Given the description of an element on the screen output the (x, y) to click on. 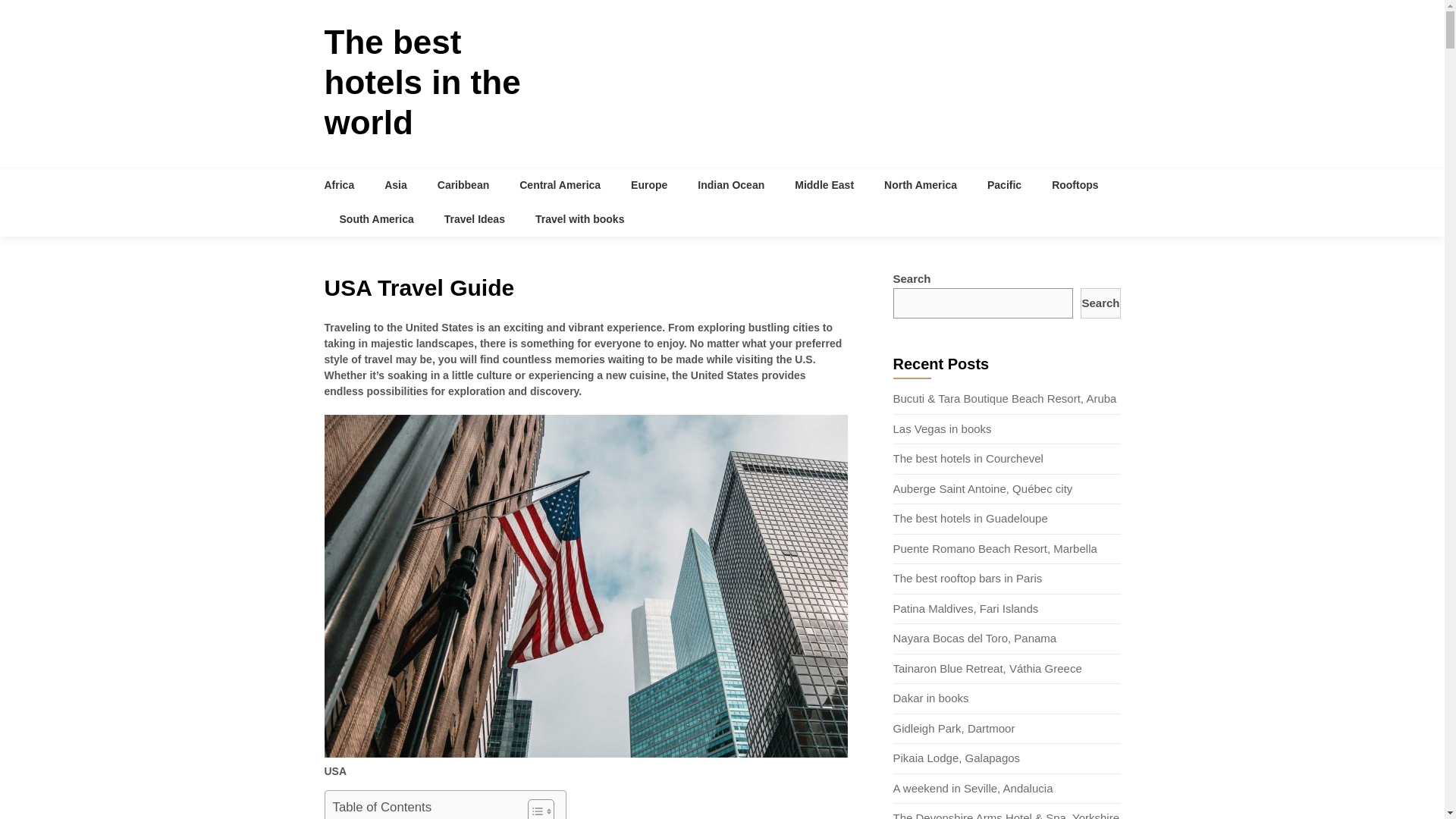
Pacific (1004, 185)
Africa (346, 185)
Indian Ocean (730, 185)
Middle East (823, 185)
Travel Ideas (474, 219)
Europe (648, 185)
Travel with books (579, 219)
The best hotels in the world (422, 81)
Caribbean (462, 185)
Rooftops (1074, 185)
Central America (559, 185)
South America (376, 219)
Asia (395, 185)
North America (920, 185)
